Given the description of an element on the screen output the (x, y) to click on. 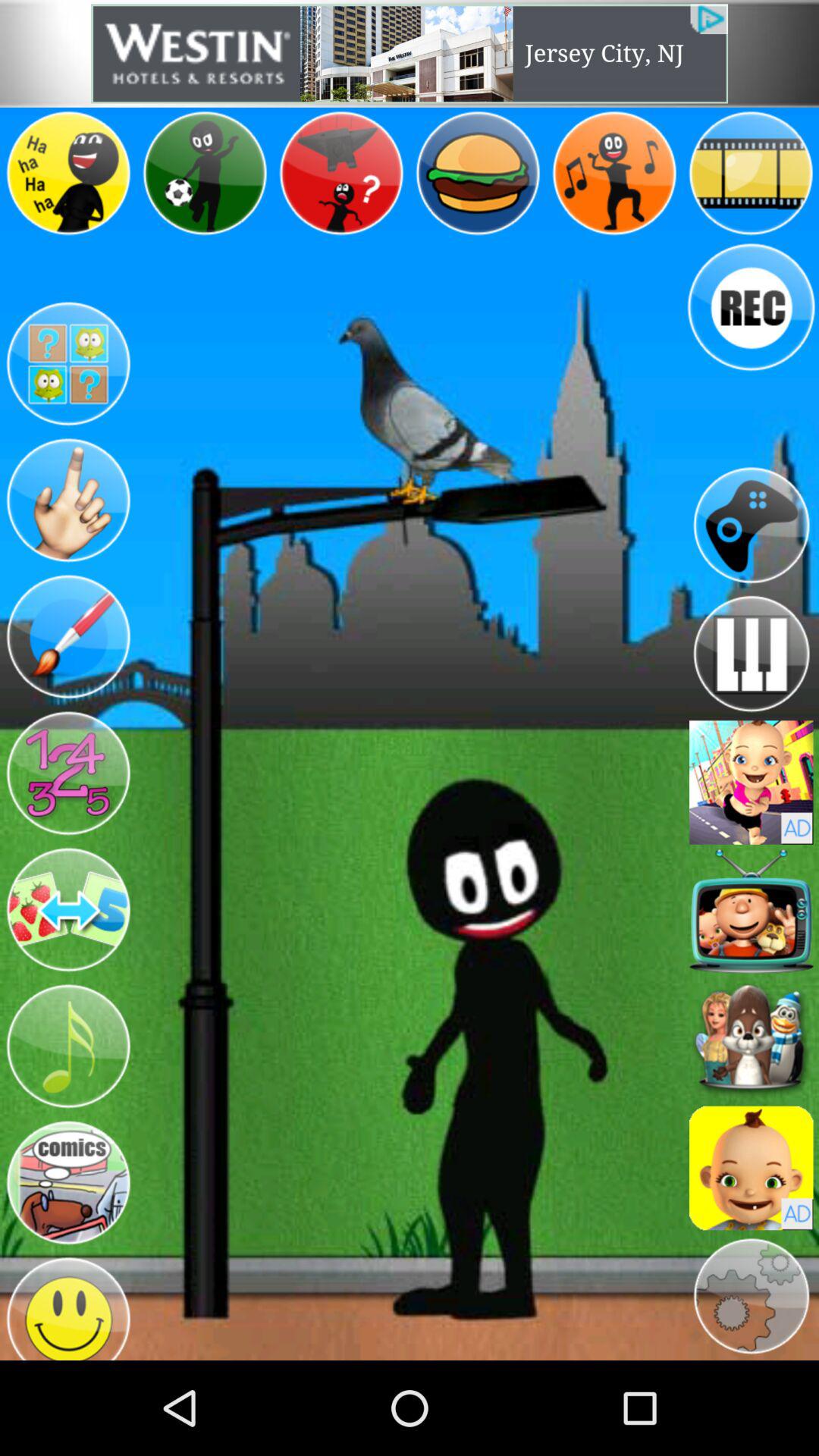
open advertisement (751, 782)
